Given the description of an element on the screen output the (x, y) to click on. 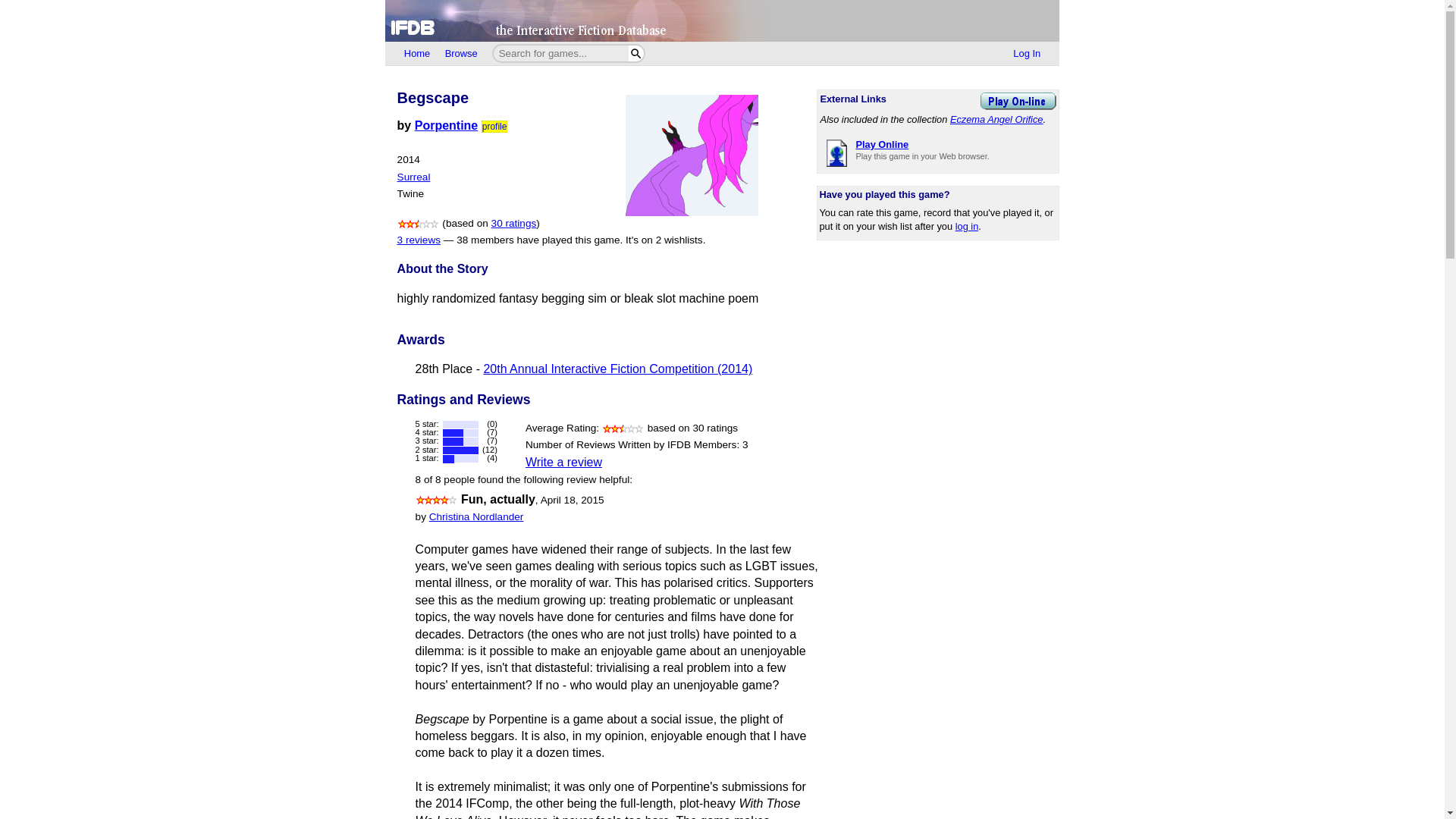
Log In (1027, 53)
Eczema Angel Orifice (996, 119)
Play Online (882, 143)
Christina Nordlander (476, 516)
30 ratings (514, 223)
View all ratings and reviews for this game (514, 223)
38 members have played this game. (540, 239)
log in (966, 225)
Porpentine (446, 124)
